Given the description of an element on the screen output the (x, y) to click on. 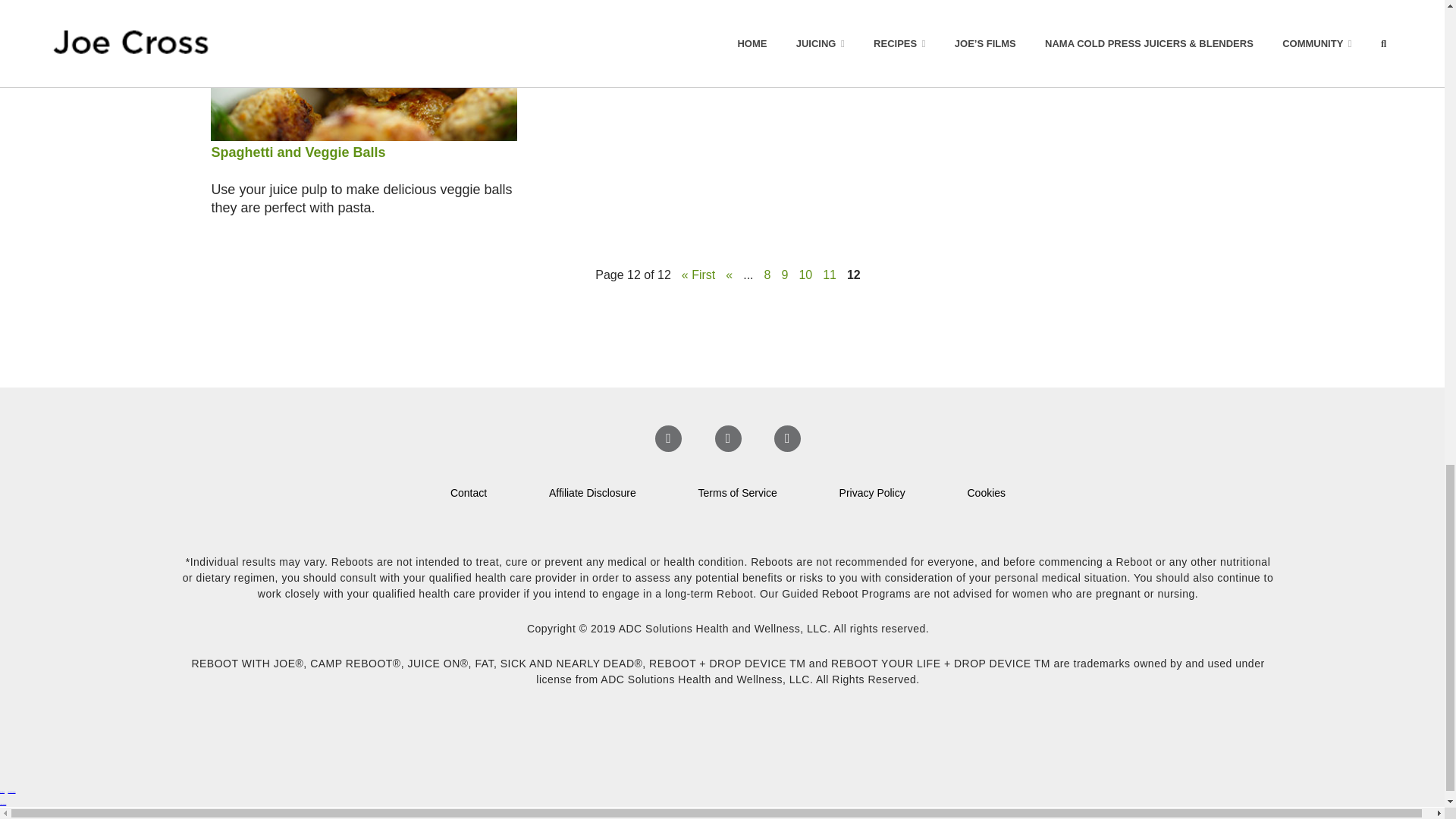
Page 10 (804, 274)
Page 11 (829, 274)
